Given the description of an element on the screen output the (x, y) to click on. 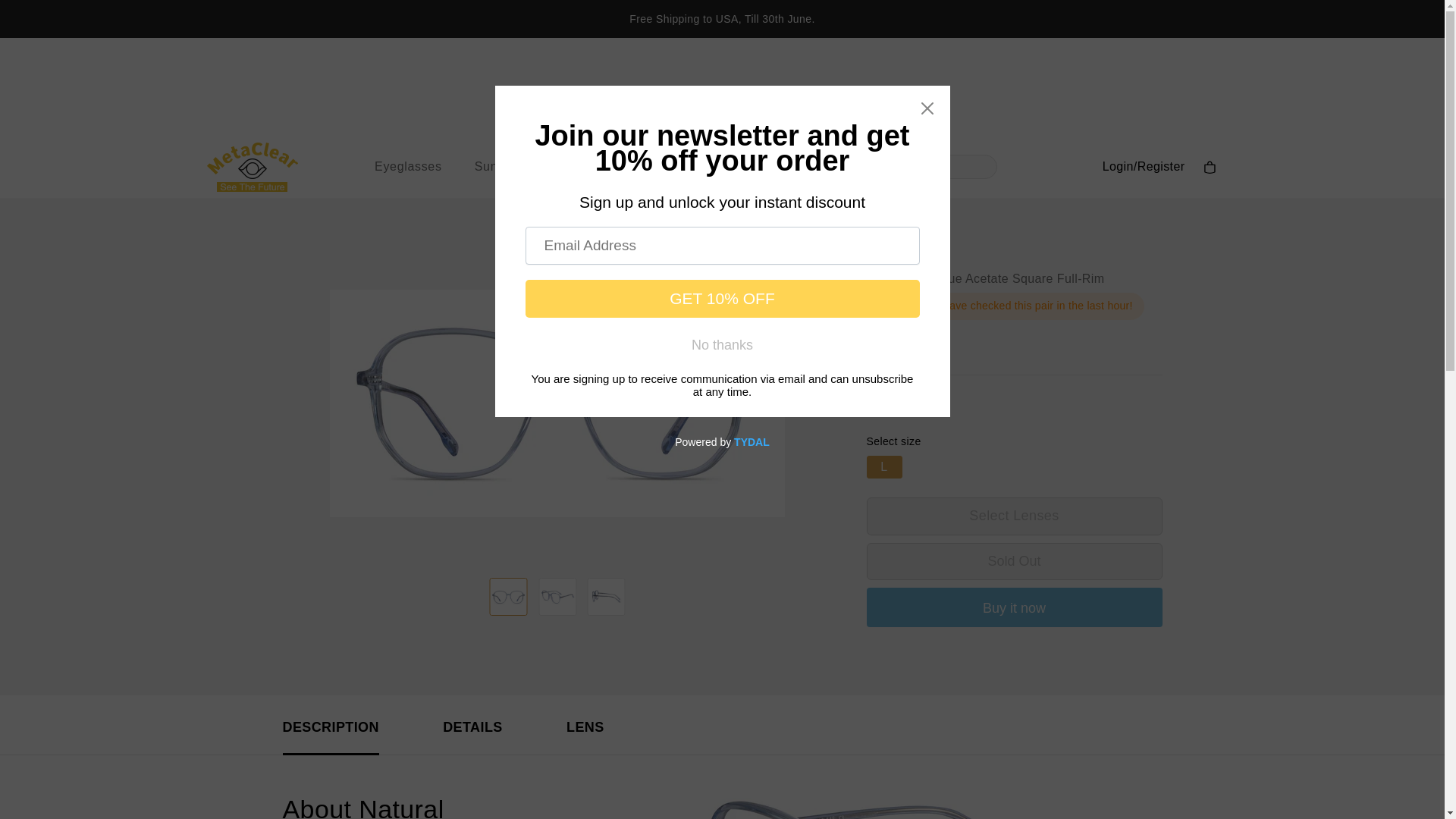
Large (882, 278)
Full-Rim (1081, 278)
Home (296, 179)
Clear Blue (932, 278)
Sold Out (1013, 560)
Sports Glasses (751, 166)
Submit the search query. (842, 166)
Acetate (987, 278)
champagne (894, 398)
Back to the frontpage (296, 179)
Square (1031, 278)
clear pink (933, 406)
clear green (873, 406)
Select Lenses (1013, 515)
Reading Glasses (625, 166)
